Given the description of an element on the screen output the (x, y) to click on. 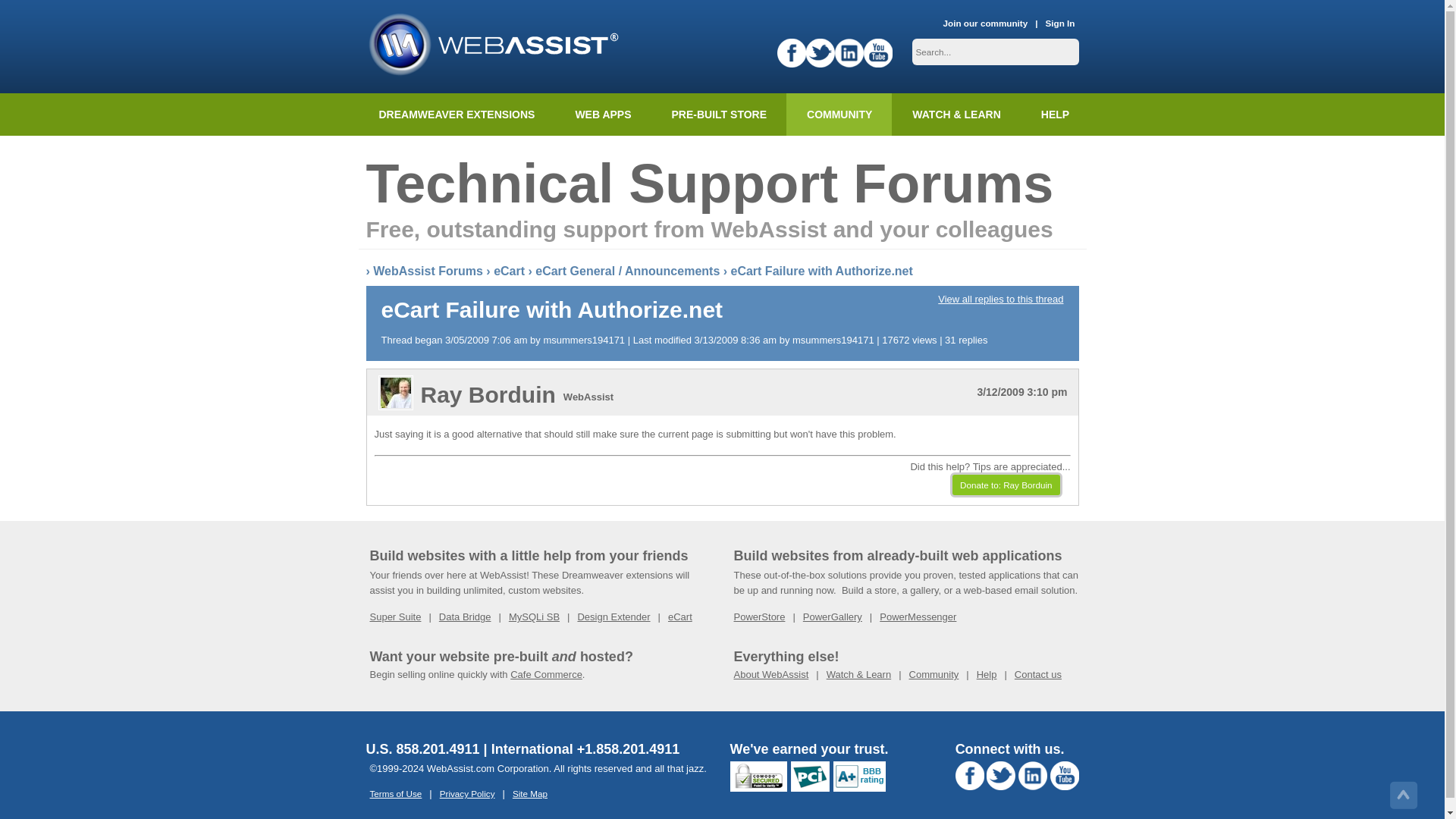
COMMUNITY (838, 114)
eCart (508, 270)
WEB APPS (602, 114)
DREAMWEAVER EXTENSIONS (456, 114)
Search (22, 10)
WebAssist Forums (427, 270)
PRE-BUILT STORE (718, 114)
Donate to: Ray Borduin (1006, 484)
HELP (1054, 114)
Sign In (1060, 23)
Join our community (985, 23)
